Given the description of an element on the screen output the (x, y) to click on. 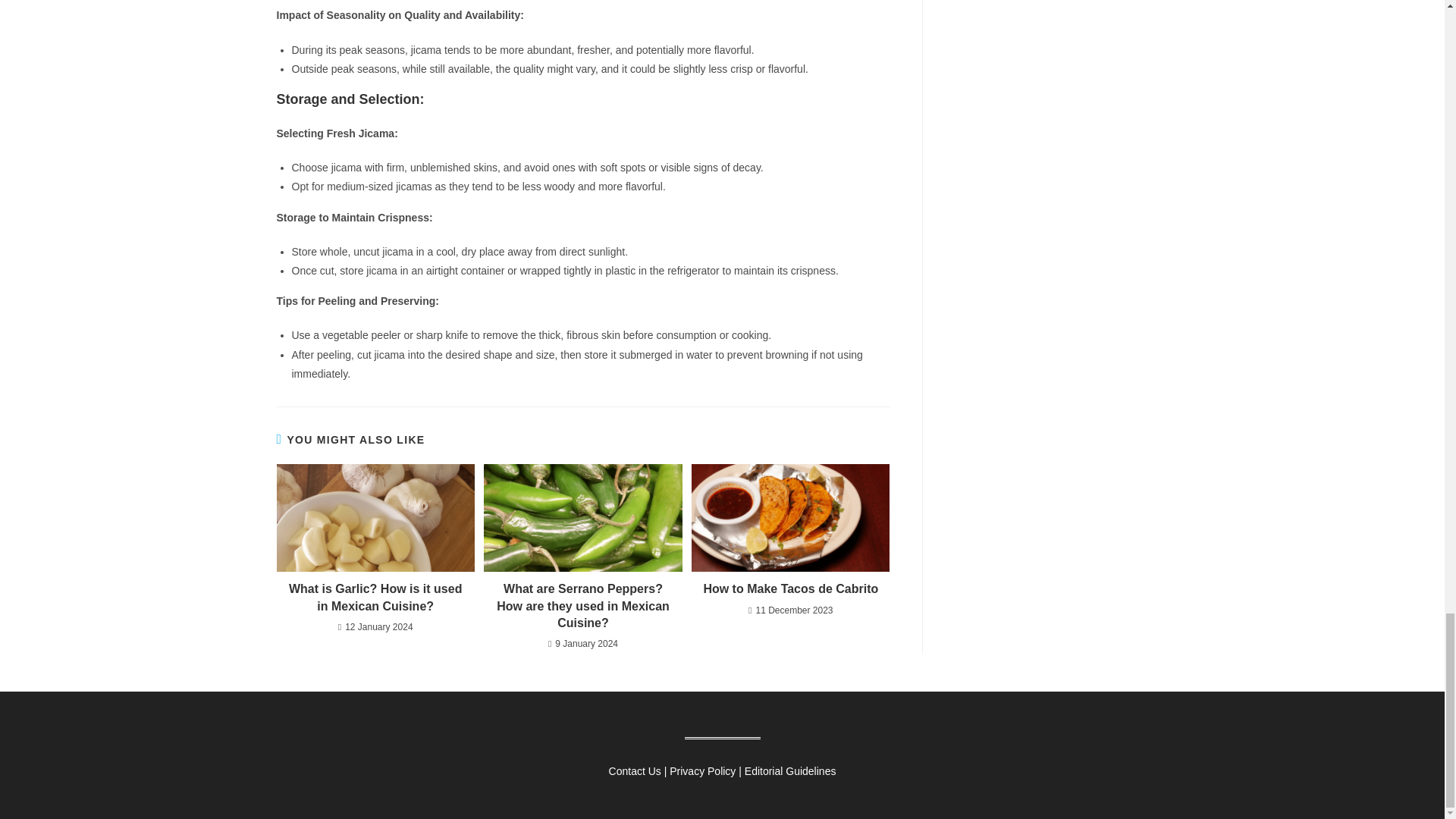
What is Garlic? How is it used in Mexican Cuisine? (374, 597)
Editorial Guidelines (789, 770)
Contact Us (634, 770)
How to Make Tacos de Cabrito (790, 588)
Privacy Policy (702, 770)
